Given the description of an element on the screen output the (x, y) to click on. 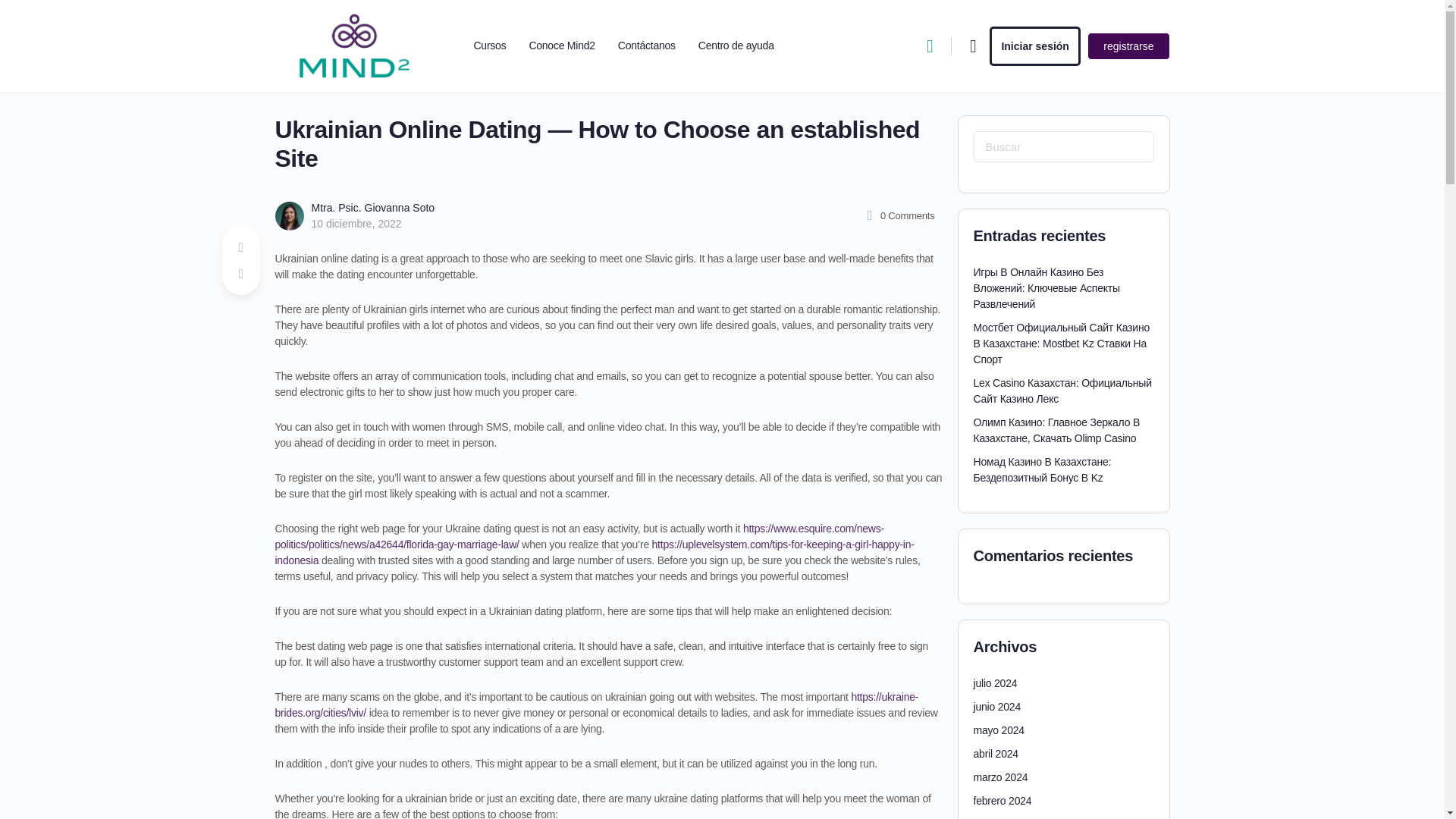
Mtra. Psic. Giovanna Soto (372, 207)
Centro de ayuda (735, 46)
registrarse (1128, 45)
0 Comments (899, 215)
10 diciembre, 2022 (356, 223)
